Given the description of an element on the screen output the (x, y) to click on. 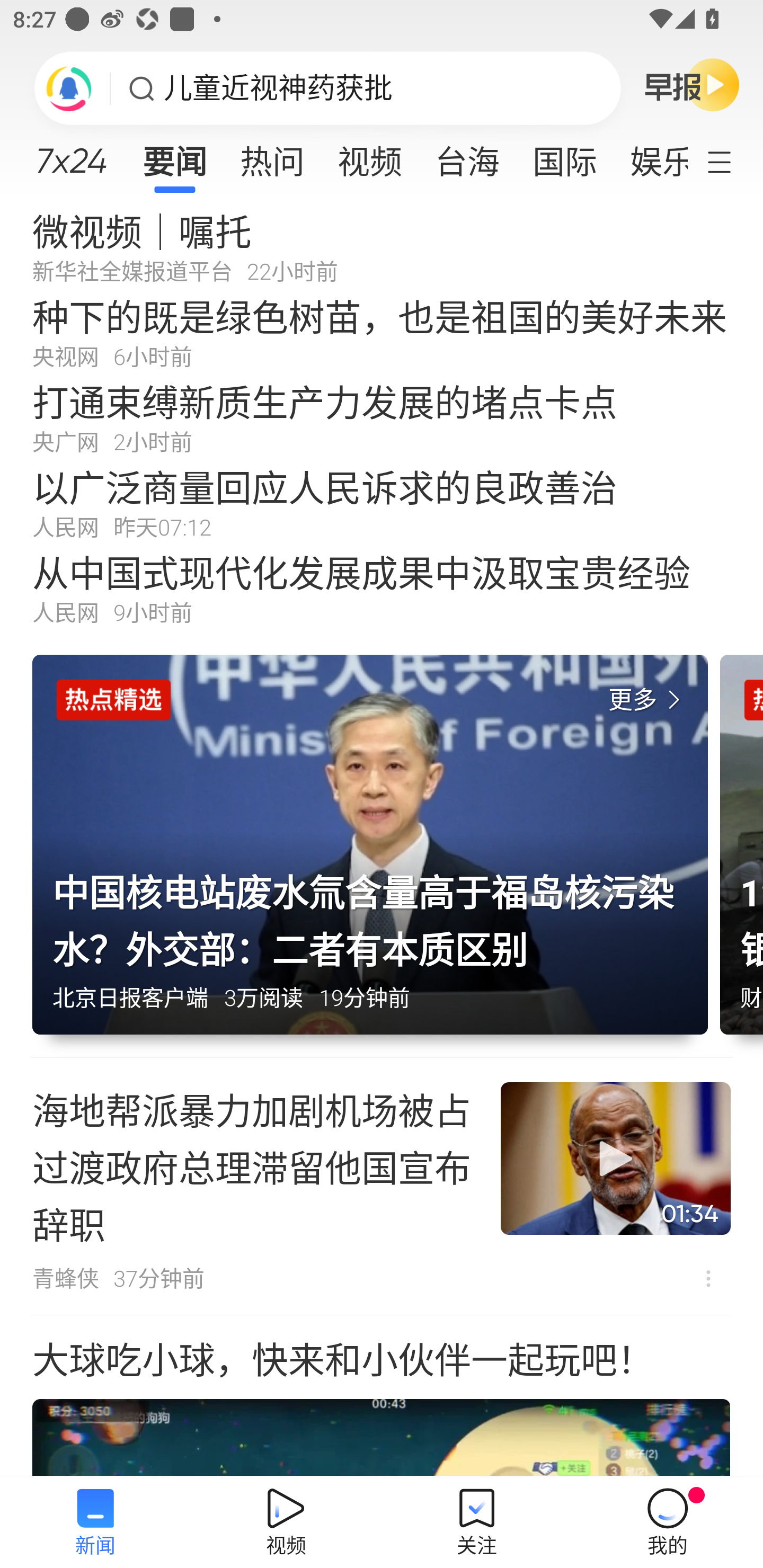
早晚报 (691, 84)
刷新 (68, 88)
儿童近视神药获批 (278, 88)
7x24 (70, 154)
要闻 (174, 155)
热问 (272, 155)
视频 (369, 155)
台海 (466, 155)
国际 (564, 155)
娱乐 (650, 155)
 定制频道 (731, 160)
微视频｜嘱托 新华社全媒报道平台 22小时前 (381, 245)
种下的既是绿色树苗，也是祖国的美好未来 央视网 6小时前 (381, 331)
打通束缚新质生产力发展的堵点卡点 央广网 2小时前 (381, 416)
以广泛商量回应人民诉求的良政善治 人民网 昨天07:12 (381, 502)
从中国式现代化发展成果中汲取宝贵经验 人民网 9小时前 (381, 587)
更多  (648, 699)
海地帮派暴力加剧机场被占 过渡政府总理滞留他国宣布辞职 01:34 青蜂侠 37分钟前  不感兴趣 (381, 1186)
 不感兴趣 (707, 1278)
大球吃小球，快来和小伙伴一起玩吧！ (381, 1396)
